Given the description of an element on the screen output the (x, y) to click on. 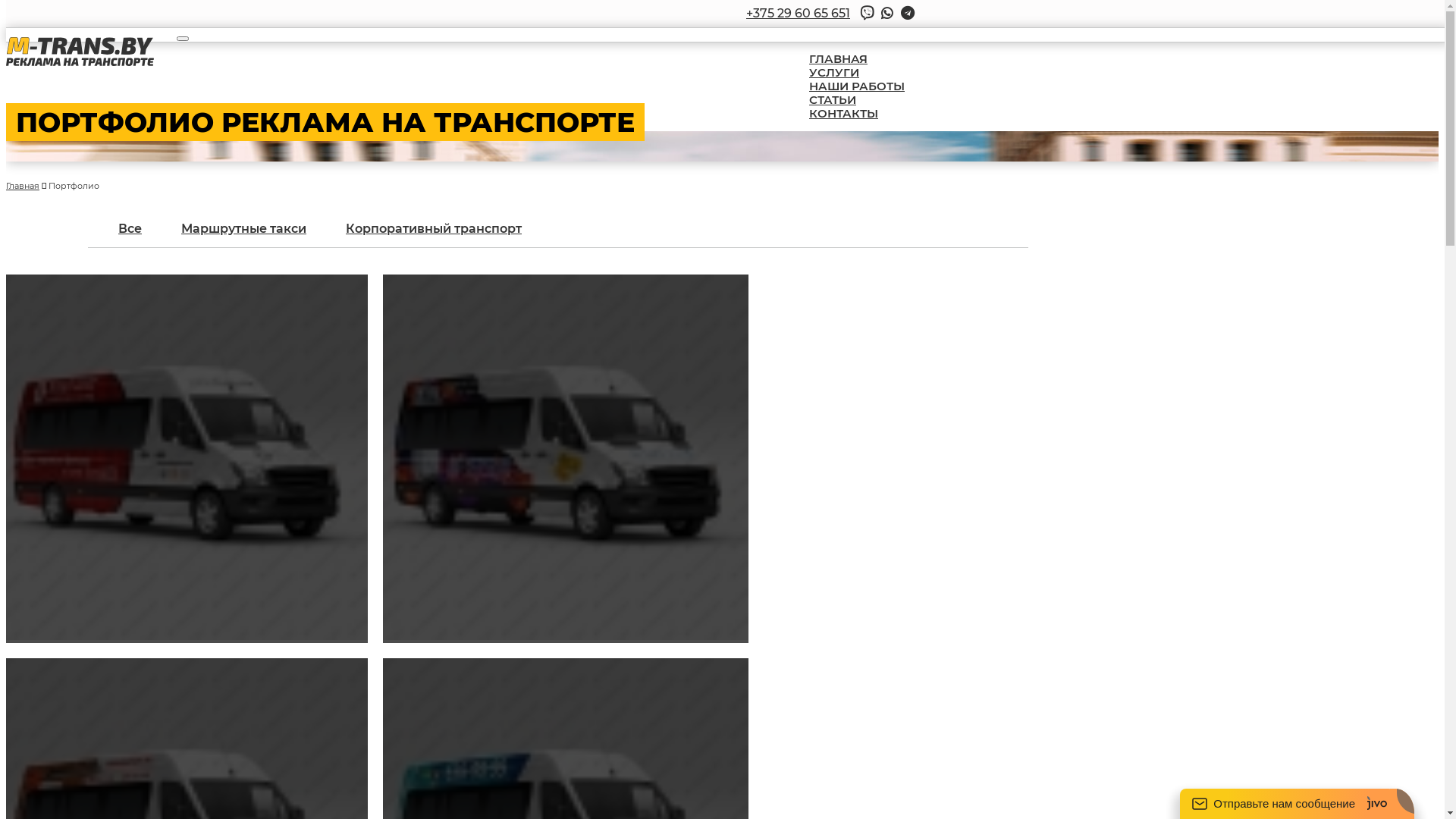
Whatsap Element type: hover (887, 13)
Telegram Element type: hover (906, 13)
+375 29 60 65 651 Element type: text (798, 13)
Viber Element type: hover (866, 13)
